Given the description of an element on the screen output the (x, y) to click on. 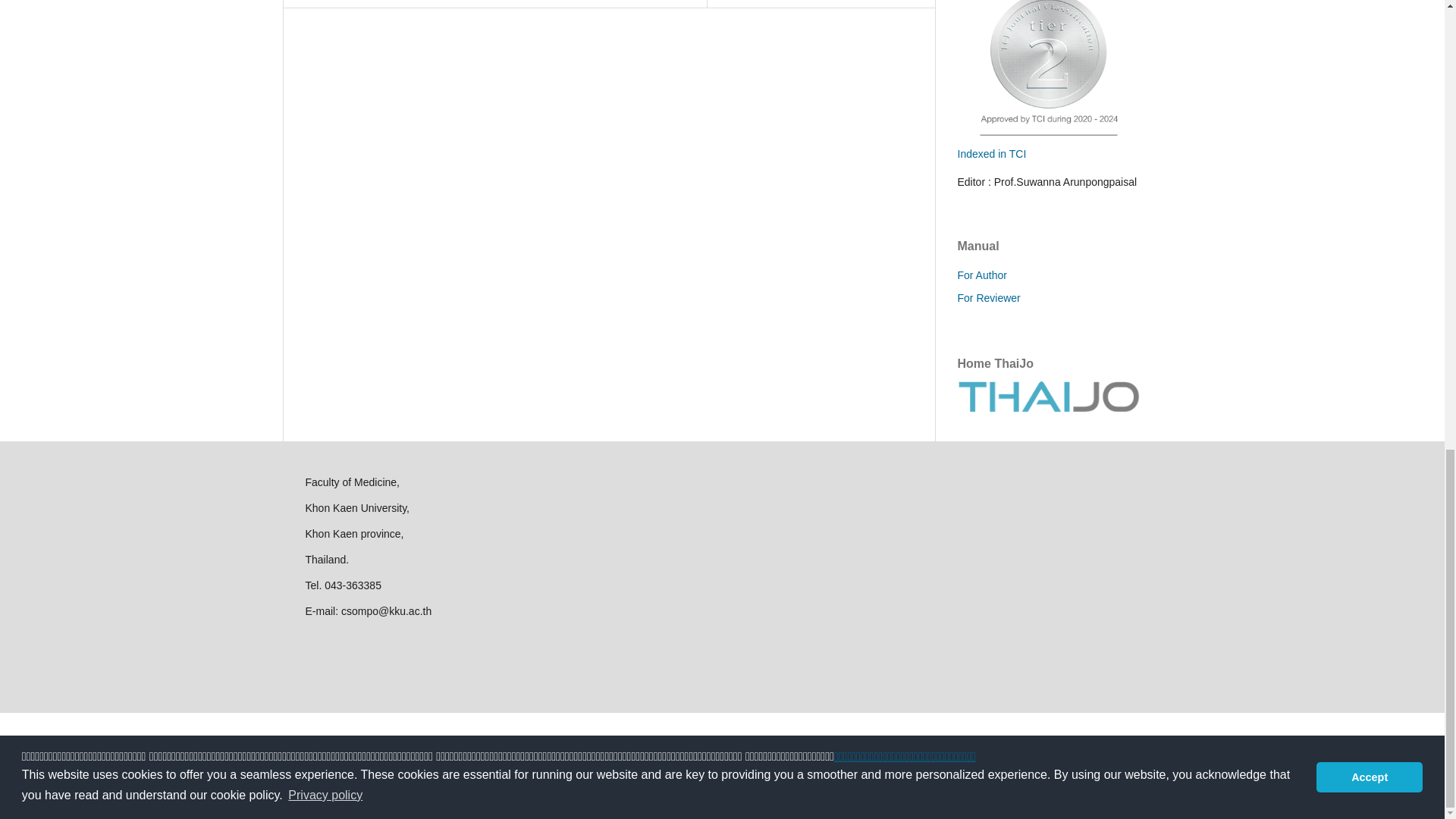
home thaijo (1047, 408)
